Given the description of an element on the screen output the (x, y) to click on. 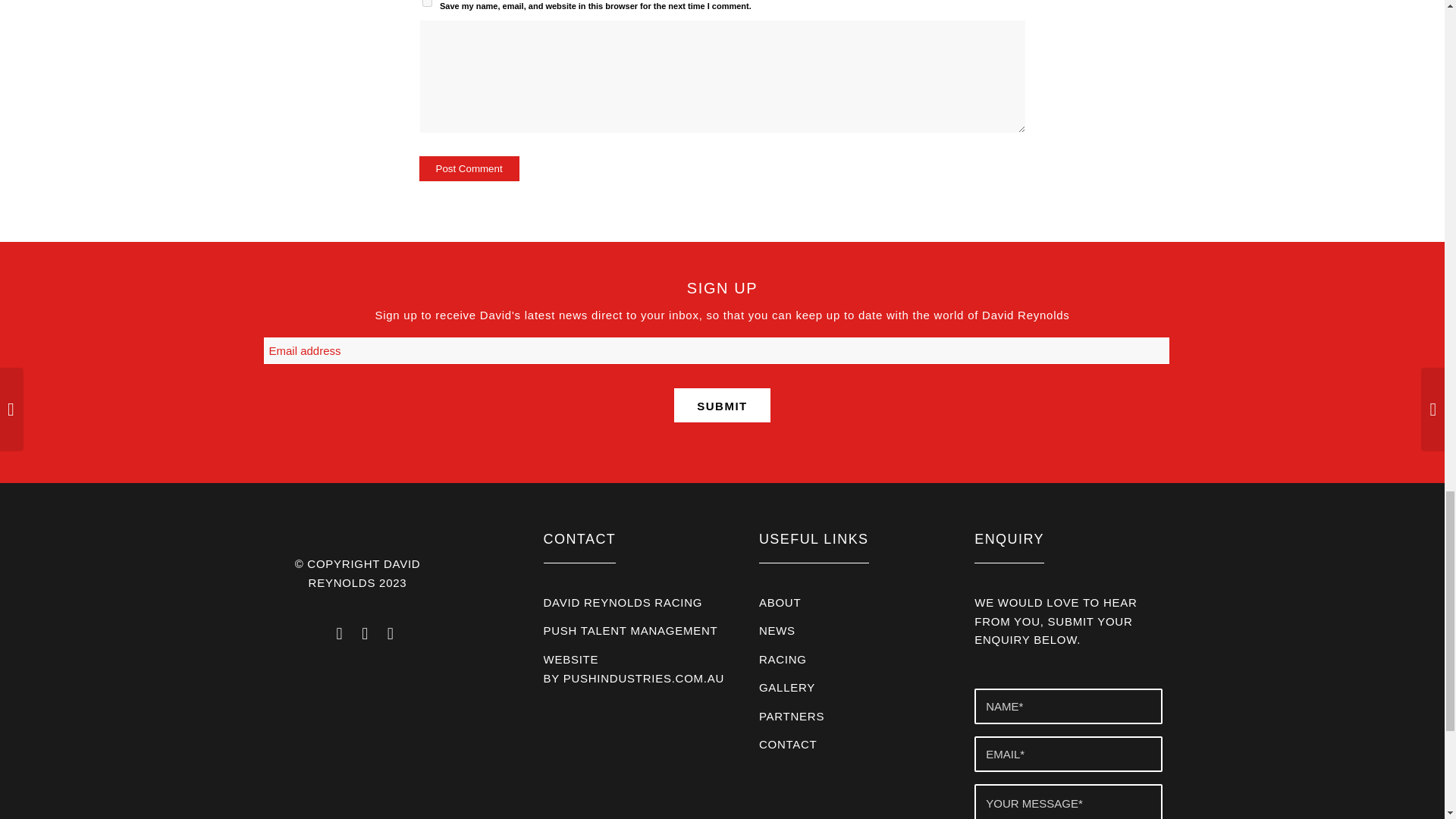
CONTACT (787, 744)
GALLERY (786, 686)
Post Comment (468, 168)
PUSHINDUSTRIES.COM.AU (643, 677)
ABOUT (779, 602)
yes (426, 3)
NEWS (776, 630)
Submit (722, 405)
Post Comment (468, 168)
Submit (722, 405)
PARTNERS (791, 716)
RACING (782, 658)
